Given the description of an element on the screen output the (x, y) to click on. 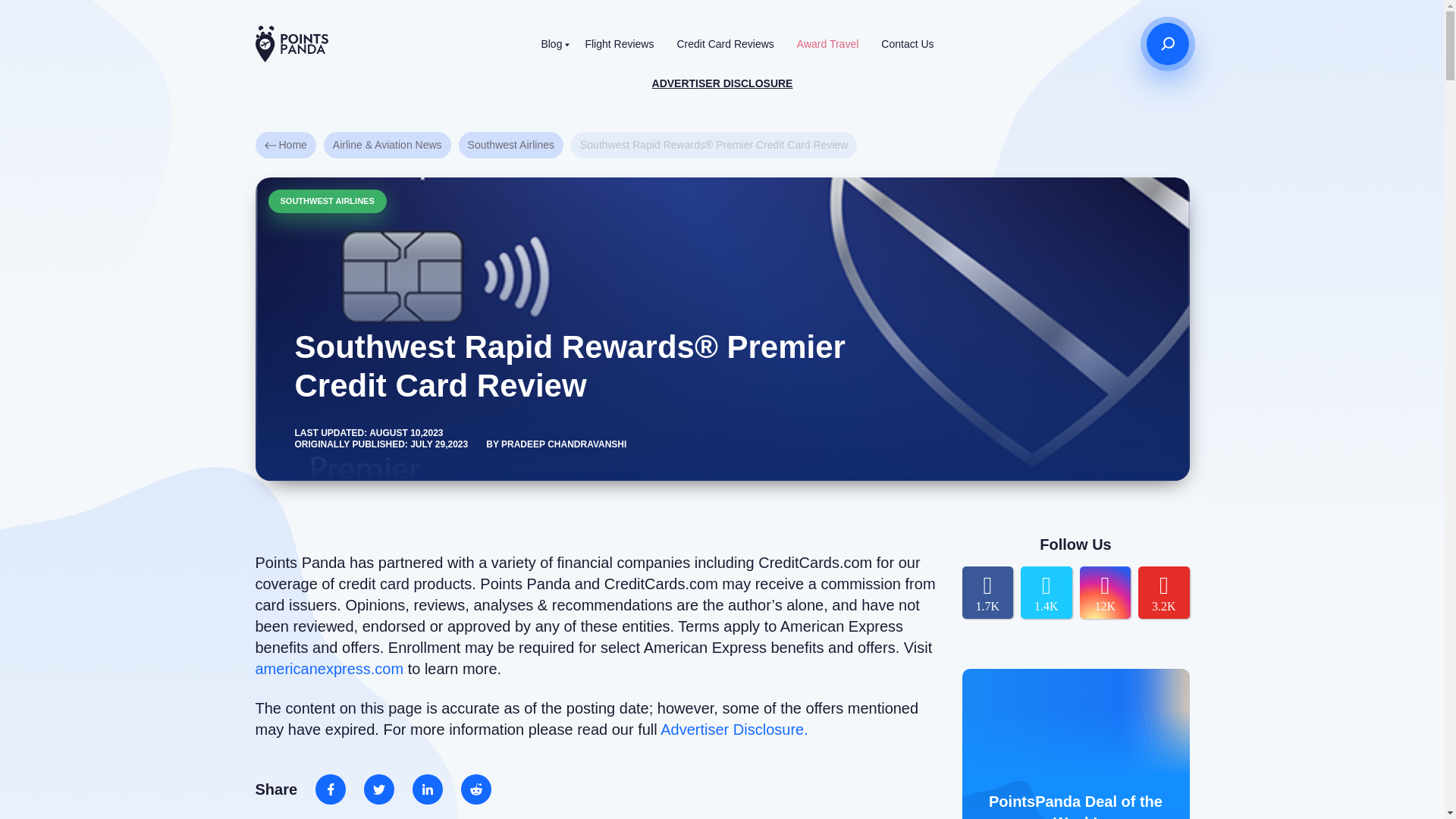
Award Travel (827, 43)
Southwest Airlines (510, 144)
Flight Reviews (619, 43)
SOUTHWEST AIRLINES (327, 200)
Advertiser Disclosure. (734, 729)
Home (284, 144)
americanexpress.com (328, 668)
Credit Card Reviews (724, 43)
Blog (551, 43)
Contact Us (906, 43)
